Given the description of an element on the screen output the (x, y) to click on. 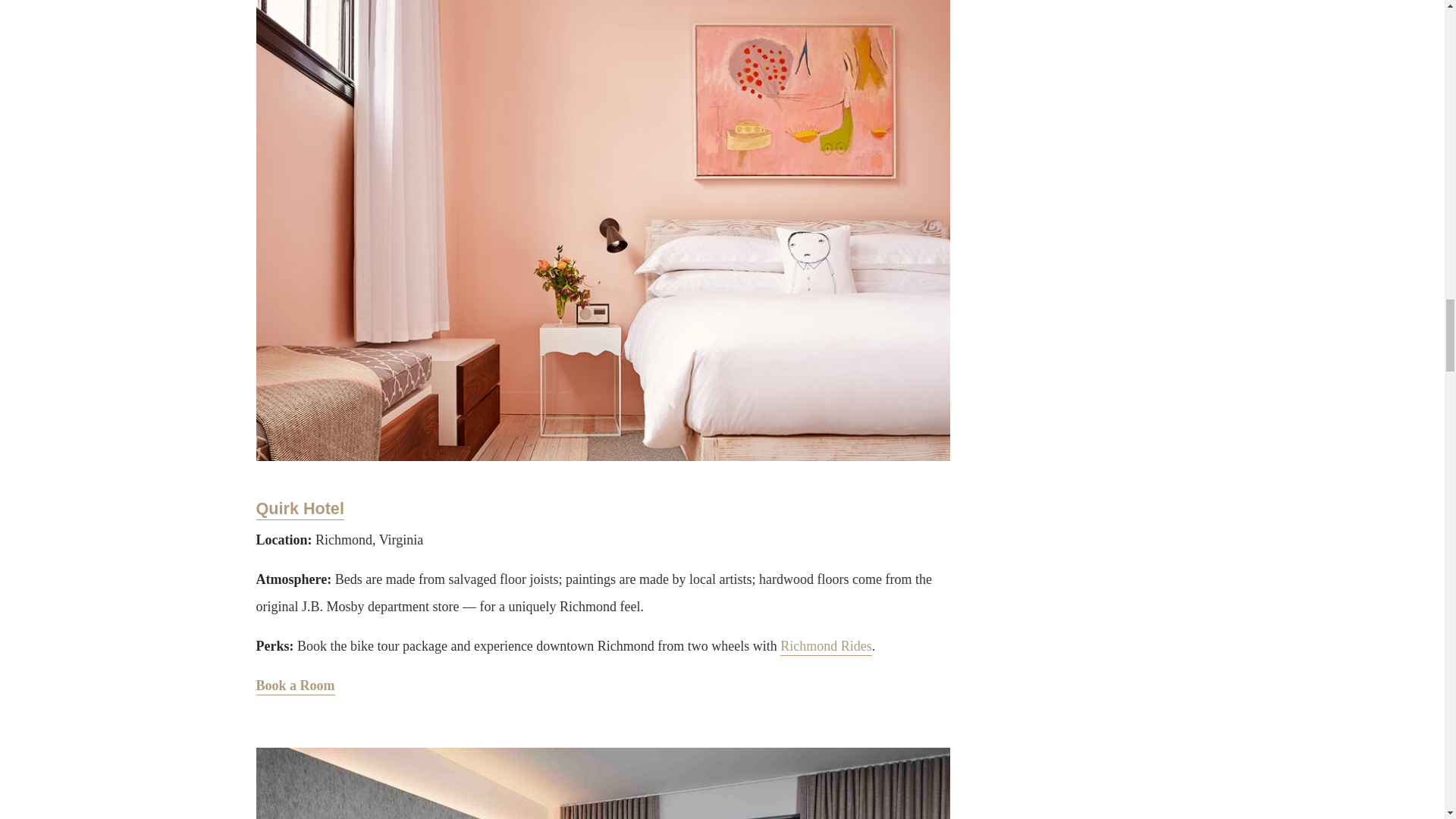
Book Quirk Hotel (295, 686)
Book a Room (295, 686)
Quirk Hotel (299, 509)
Richmond Rides (826, 647)
Richmond Rides (826, 647)
Quirk Hotel (299, 509)
